Given the description of an element on the screen output the (x, y) to click on. 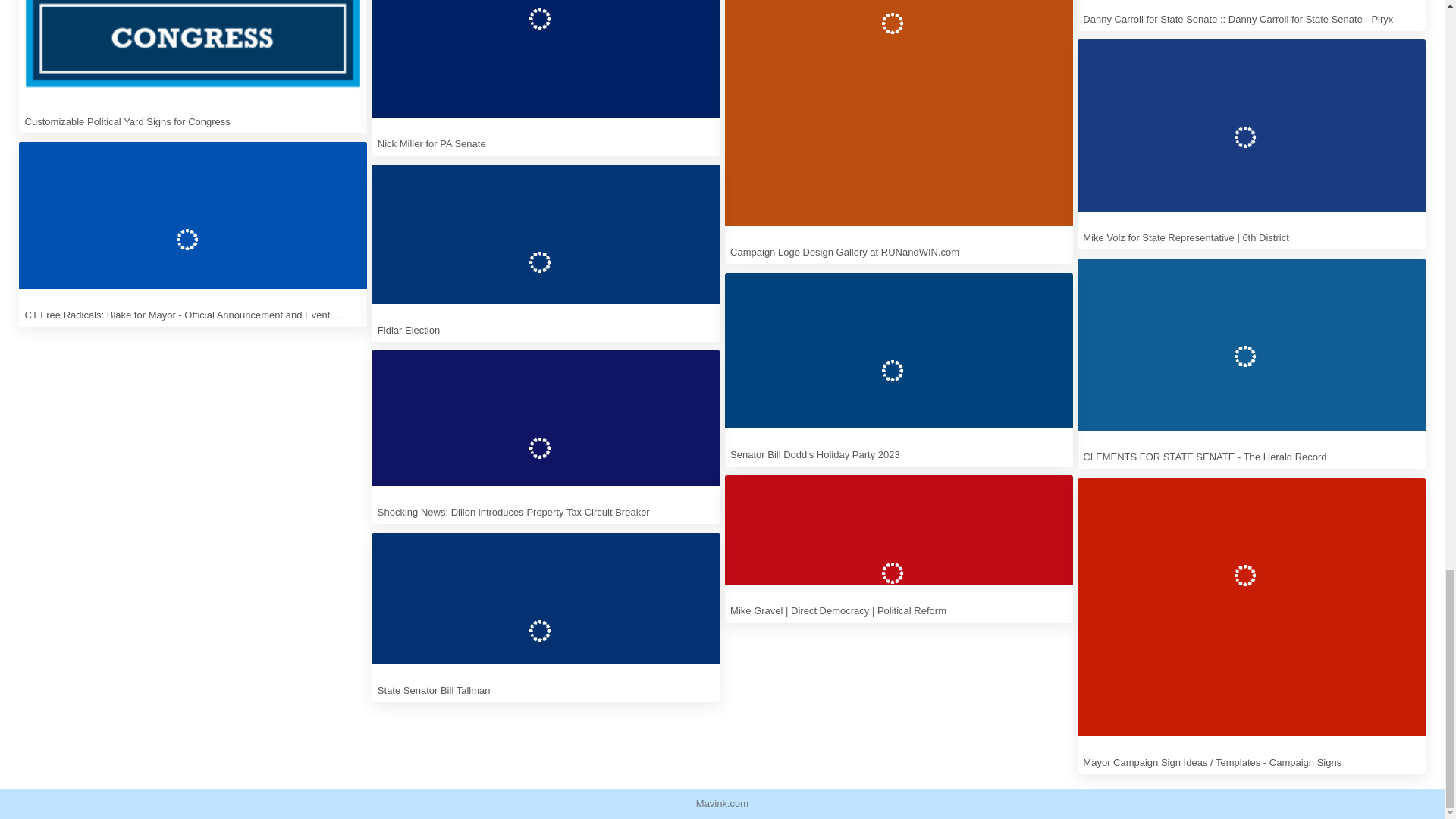
Fidlar Election (545, 253)
Campaign Logo Design Gallery at RUNandWIN.com (899, 132)
Customizable Political Yard Signs for Congress (192, 66)
Nick Miller for PA Senate (545, 78)
